Given the description of an element on the screen output the (x, y) to click on. 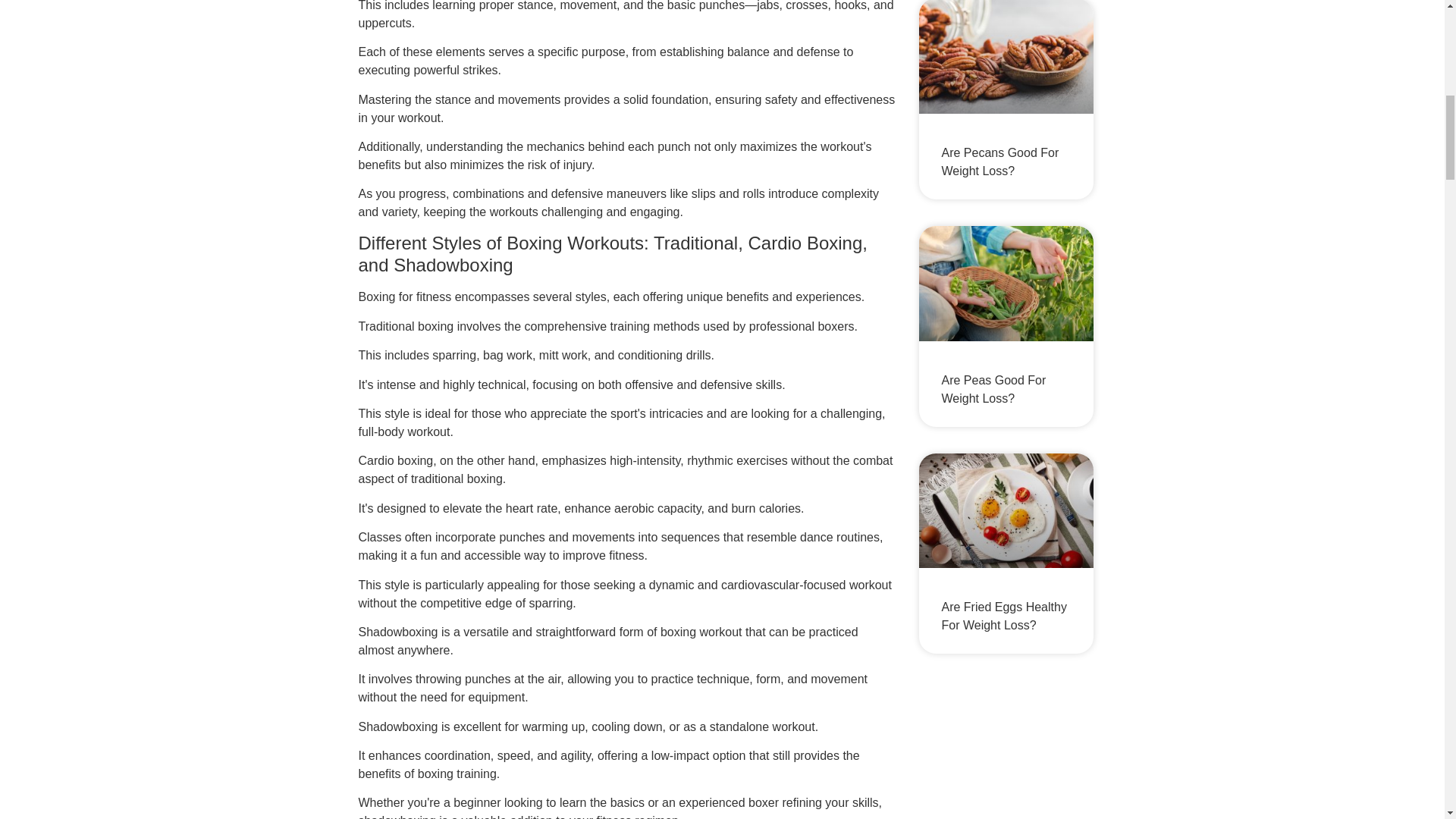
Are Pecans Good For Weight Loss? (1000, 161)
Are Fried Eggs Healthy For Weight Loss? (1004, 615)
Are Peas Good For Weight Loss? (994, 388)
